Given the description of an element on the screen output the (x, y) to click on. 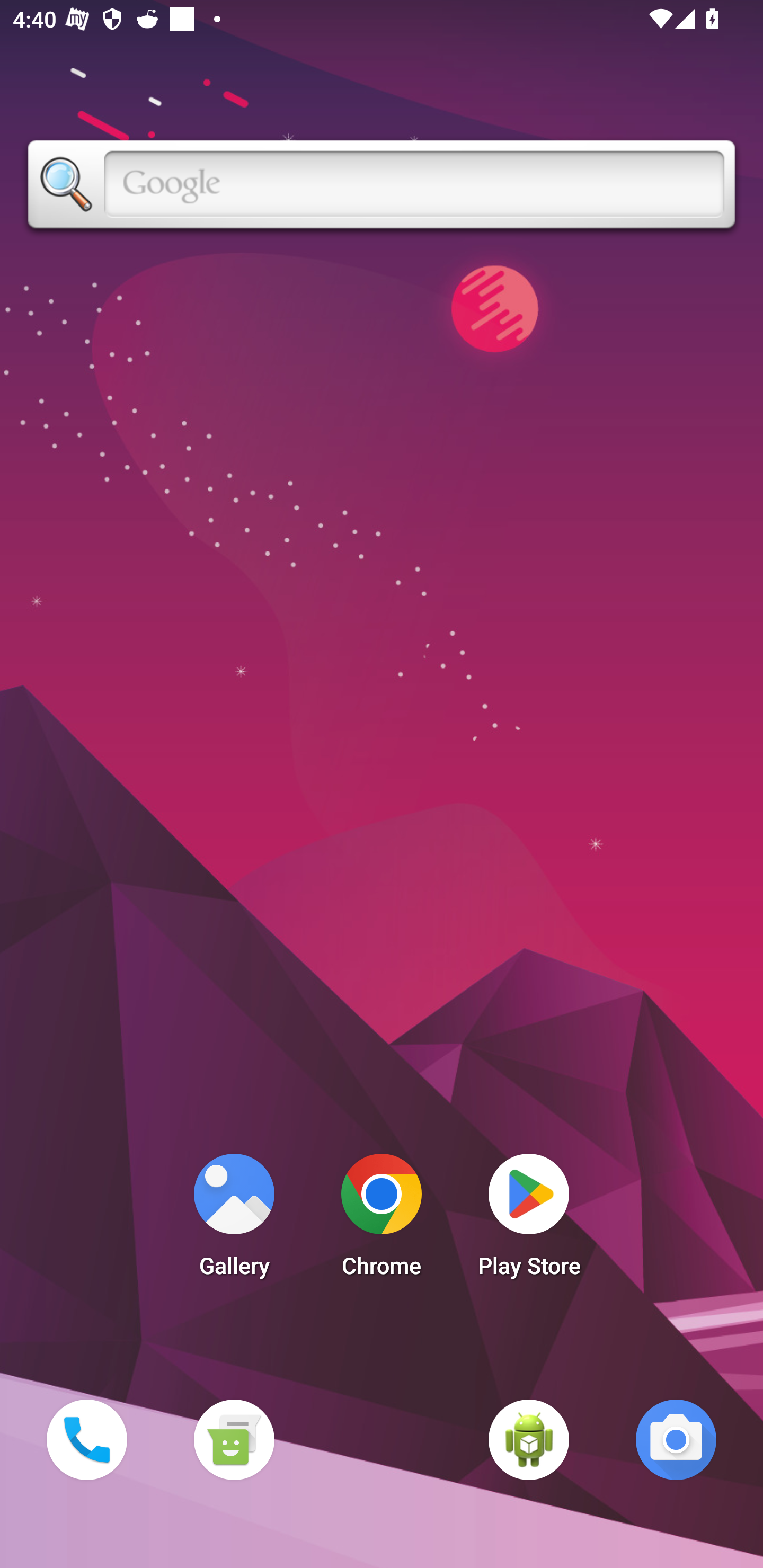
Gallery (233, 1220)
Chrome (381, 1220)
Play Store (528, 1220)
Phone (86, 1439)
Messaging (233, 1439)
WebView Browser Tester (528, 1439)
Camera (676, 1439)
